Given the description of an element on the screen output the (x, y) to click on. 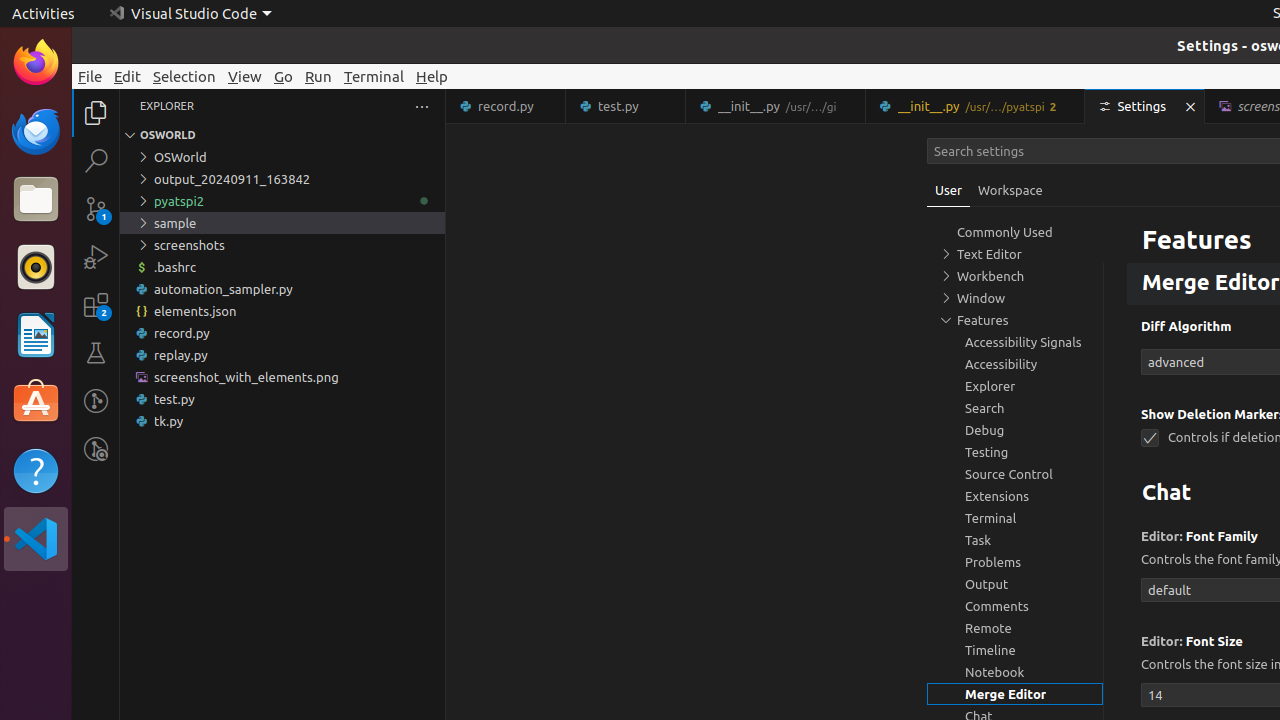
Terminal Element type: push-button (374, 76)
Merge Editor, group Element type: tree-item (1015, 694)
.bashrc Element type: tree-item (282, 267)
Debug, group Element type: tree-item (1015, 430)
